Given the description of an element on the screen output the (x, y) to click on. 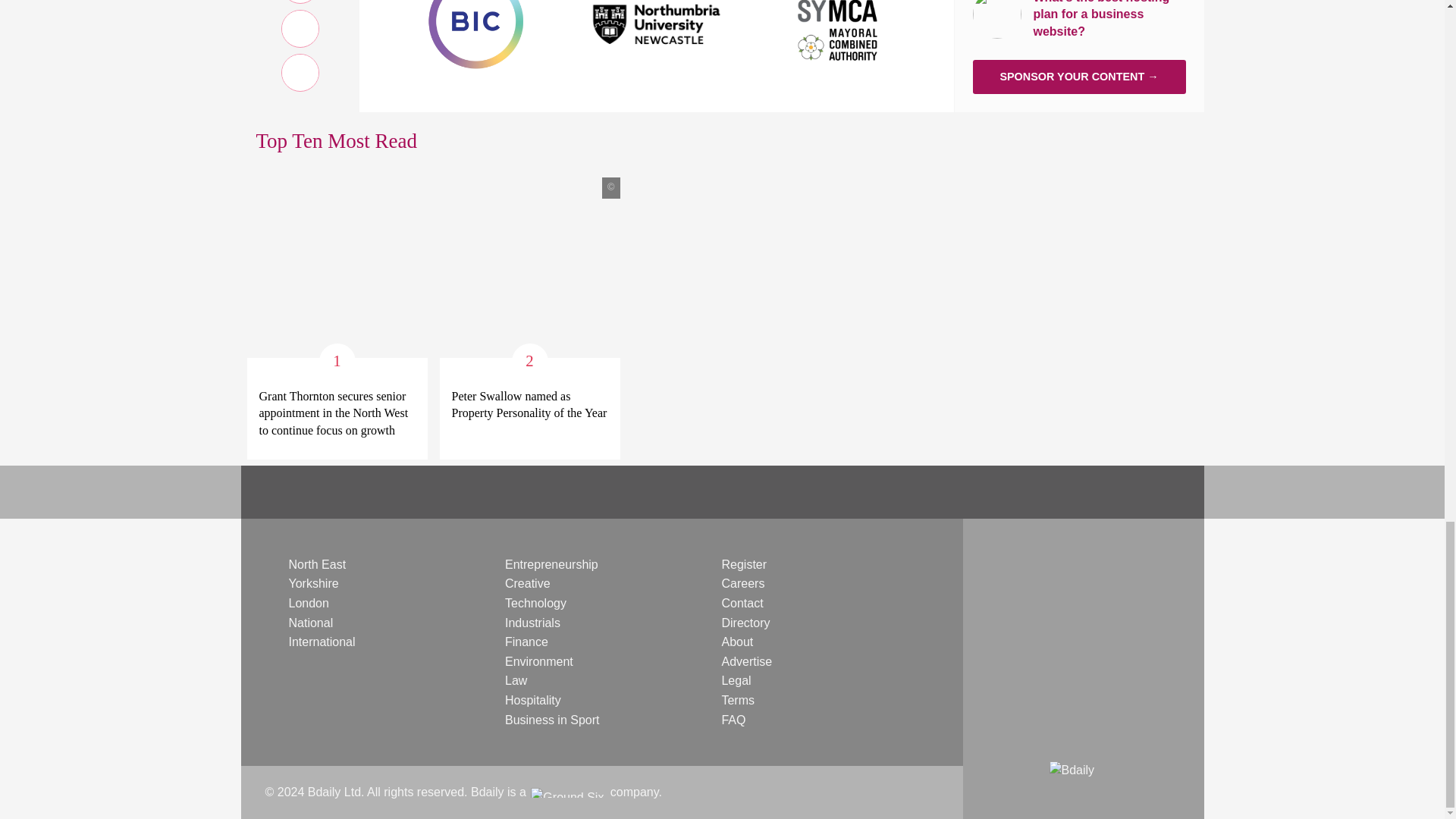
Peter Swallow named as Property Personality of the Year (529, 405)
International (321, 641)
Careers (742, 583)
Industrials (532, 622)
Technology (535, 603)
Hospitality (532, 699)
Entrepreneurship (551, 563)
Yorkshire (312, 583)
South Yorkshire Mayoral Combined Authority (838, 21)
Northumbria University Newcastle (656, 21)
Finance (526, 641)
Creative (527, 583)
National (310, 622)
Register (743, 563)
